Given the description of an element on the screen output the (x, y) to click on. 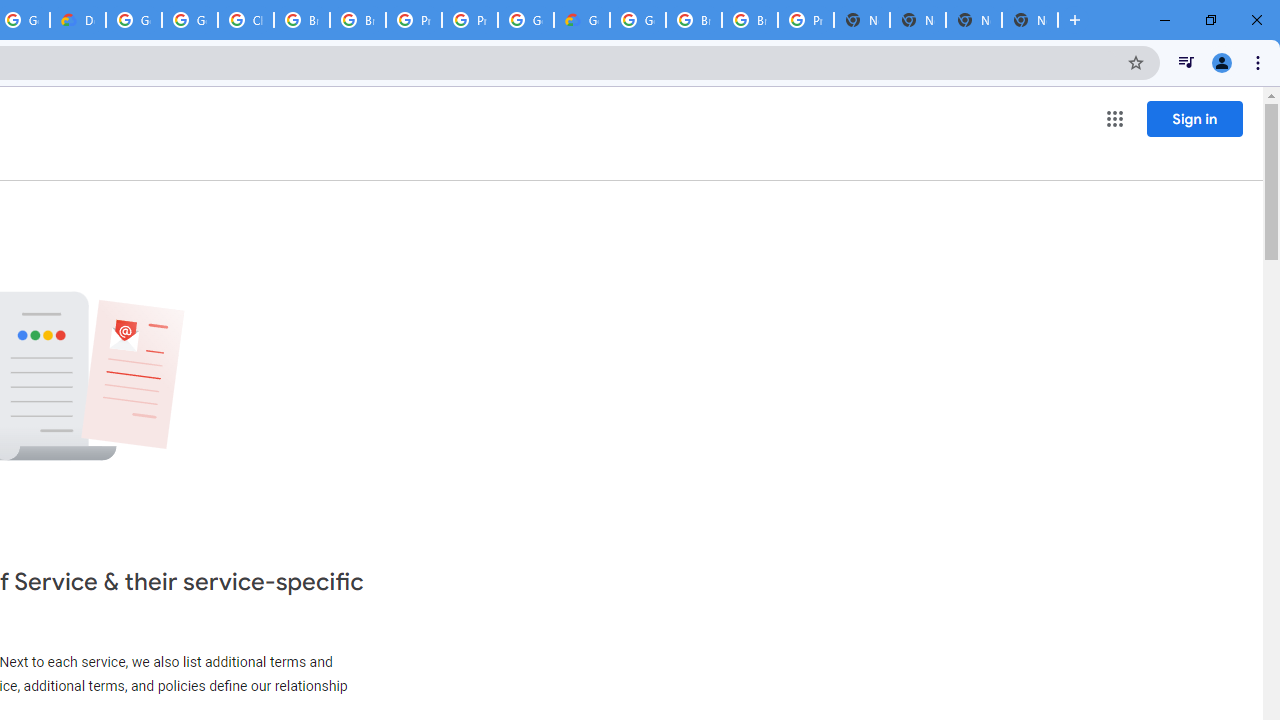
New Tab (861, 20)
Google Cloud Platform (637, 20)
Google Cloud Platform (134, 20)
